Given the description of an element on the screen output the (x, y) to click on. 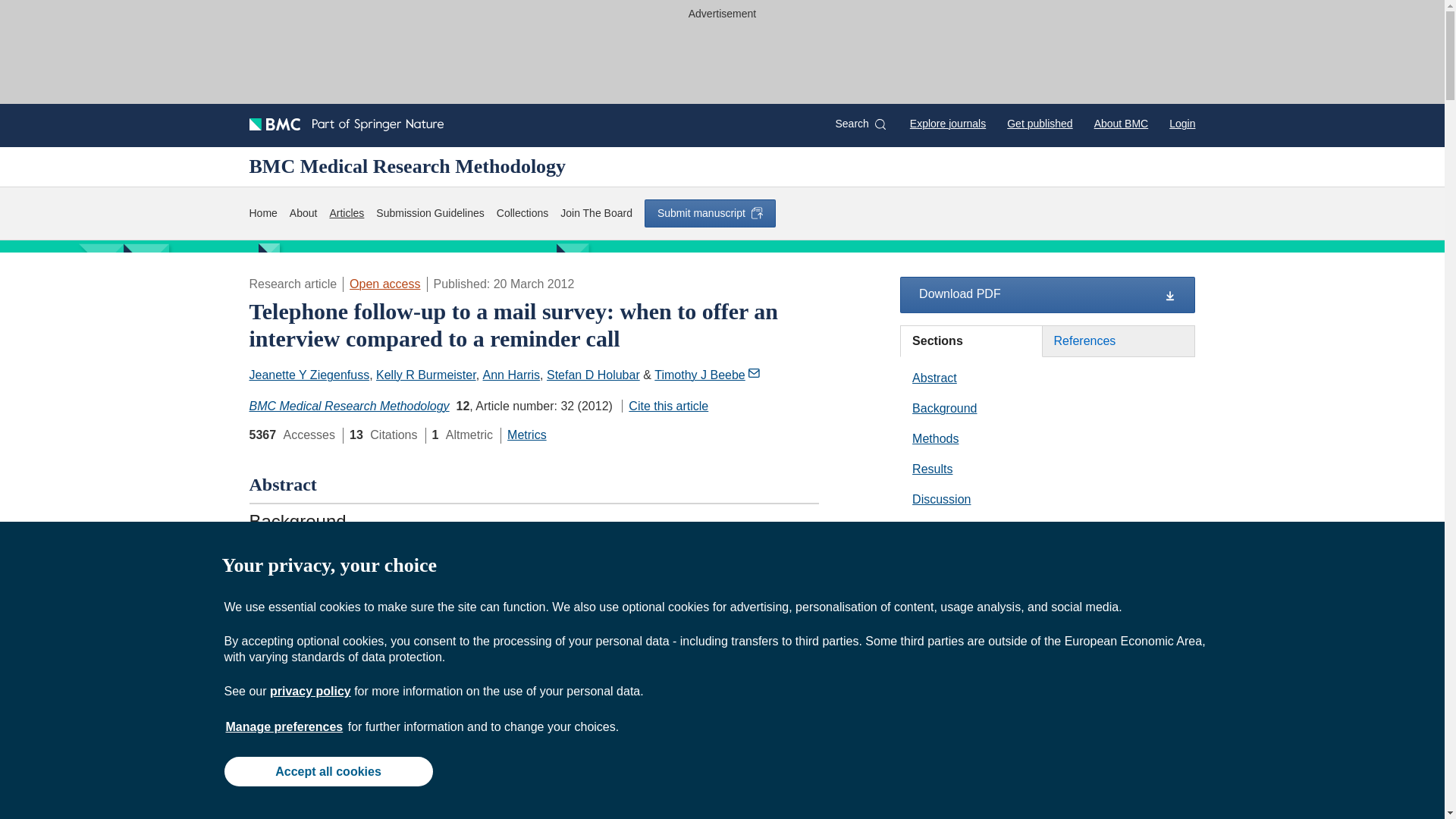
Home (262, 212)
Ann Harris (511, 374)
Submission Guidelines (429, 212)
Cite this article (664, 405)
Manage preferences (284, 726)
Articles (346, 212)
3rd party ad content (722, 59)
About (303, 212)
Accept all cookies (328, 771)
BMC Medical Research Methodology (348, 405)
